Given the description of an element on the screen output the (x, y) to click on. 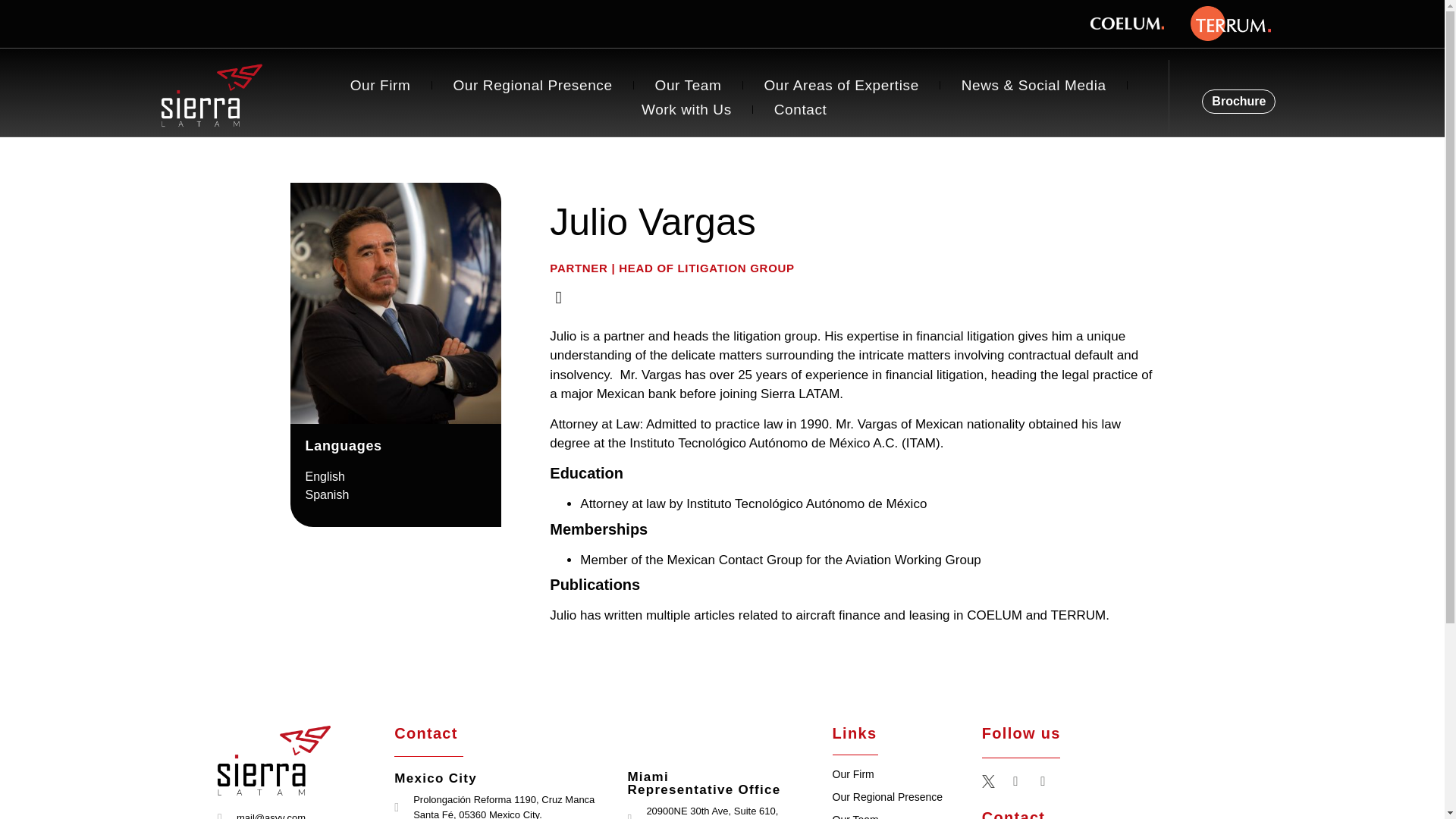
Our Firm (853, 774)
Our Regional Presence (887, 797)
Contact (800, 109)
Our Firm (380, 84)
Our Team (855, 816)
Work with Us (686, 109)
Our Regional Presence (532, 84)
Our Team (688, 84)
Our Areas of Expertise (840, 84)
Brochure (1238, 101)
